Given the description of an element on the screen output the (x, y) to click on. 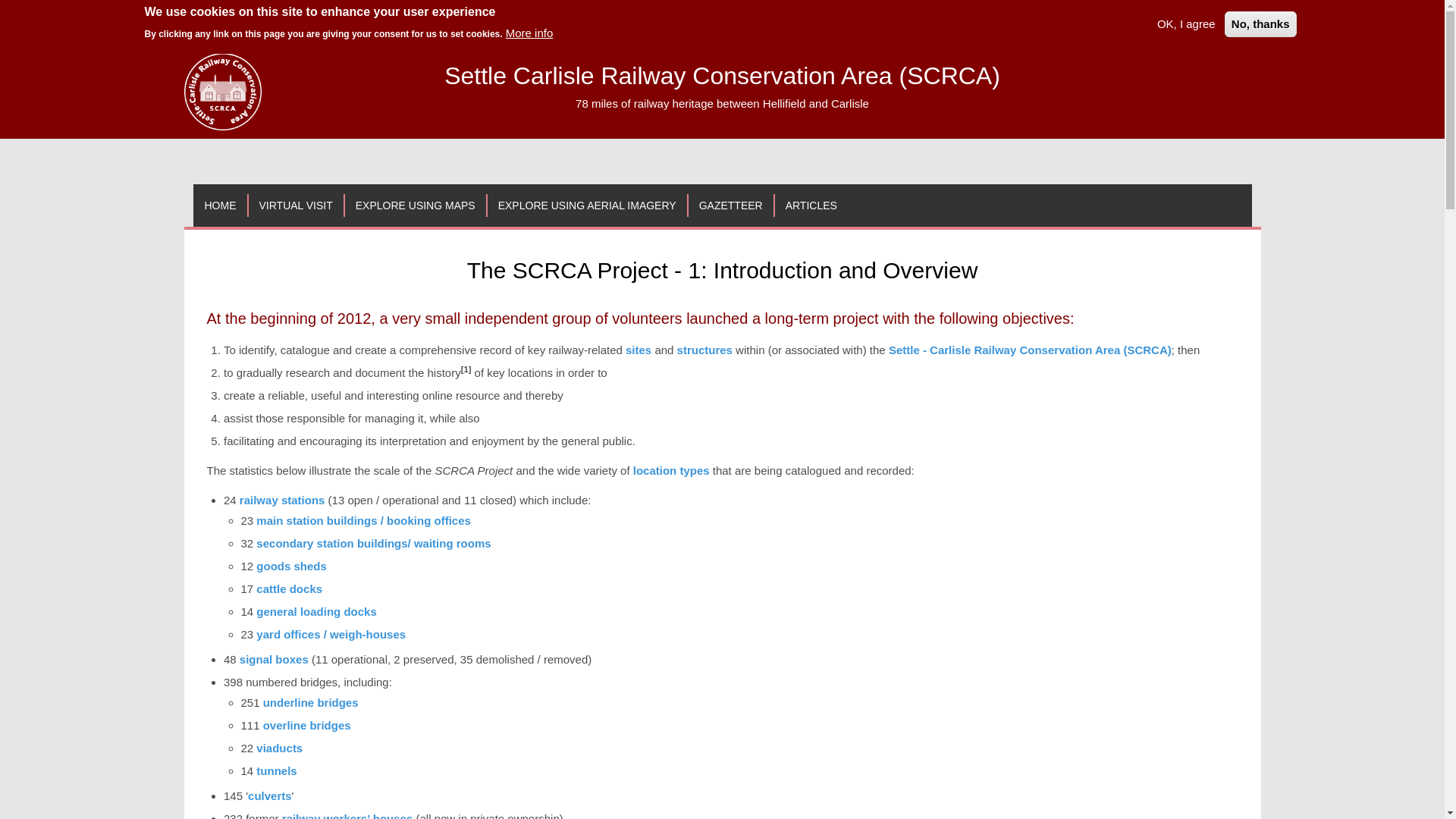
tunnels (276, 770)
More info (529, 33)
Home (221, 91)
cattle docks (288, 588)
underline bridges (310, 702)
Search (195, 22)
culverts (269, 795)
signal boxes (274, 658)
Virtually explore the SCRCA using aerial imagery. (586, 205)
overline bridges (306, 725)
No, thanks (1260, 23)
EXPLORE USING MAPS (414, 205)
viaducts (279, 748)
EXPLORE USING AERIAL IMAGERY (586, 205)
